Given the description of an element on the screen output the (x, y) to click on. 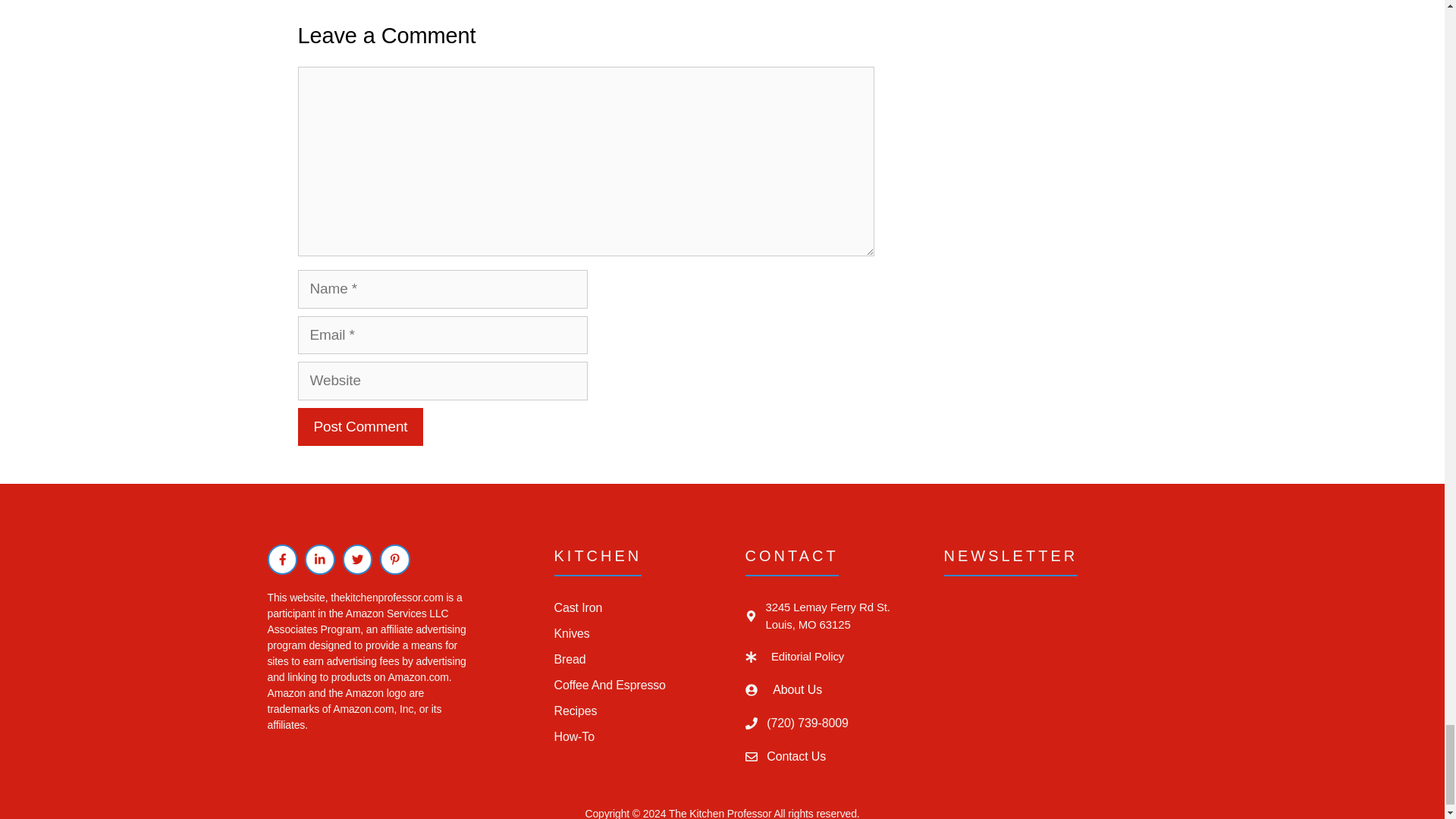
Post Comment (360, 426)
